Given the description of an element on the screen output the (x, y) to click on. 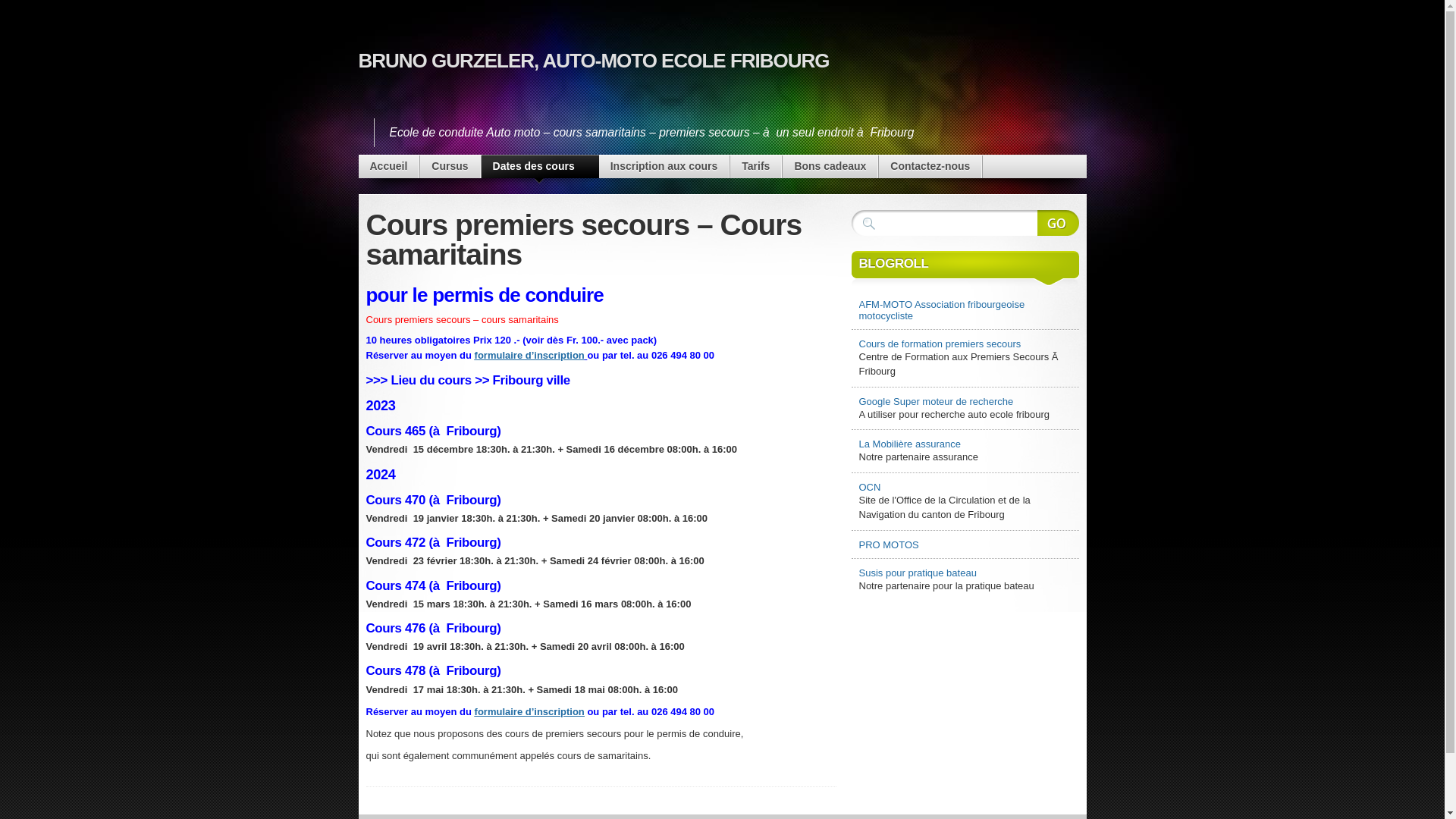
BRUNO GURZELER, AUTO-MOTO ECOLE FRIBOURG Element type: text (592, 60)
Cursus Element type: text (449, 166)
PRO MOTOS Element type: text (964, 544)
Accueil Element type: text (387, 166)
Contactez-nous Element type: text (929, 166)
Dates des cours Element type: text (539, 166)
Tarifs Element type: text (755, 166)
My Twitter Element type: text (997, 154)
Bons cadeaux Element type: text (829, 166)
Inscription aux cours Element type: text (664, 166)
Chercher sur le site Element type: text (1058, 222)
AFM-MOTO Association fribourgeoise motocycliste Element type: text (964, 310)
RSS Feeds Element type: text (1050, 154)
